Given the description of an element on the screen output the (x, y) to click on. 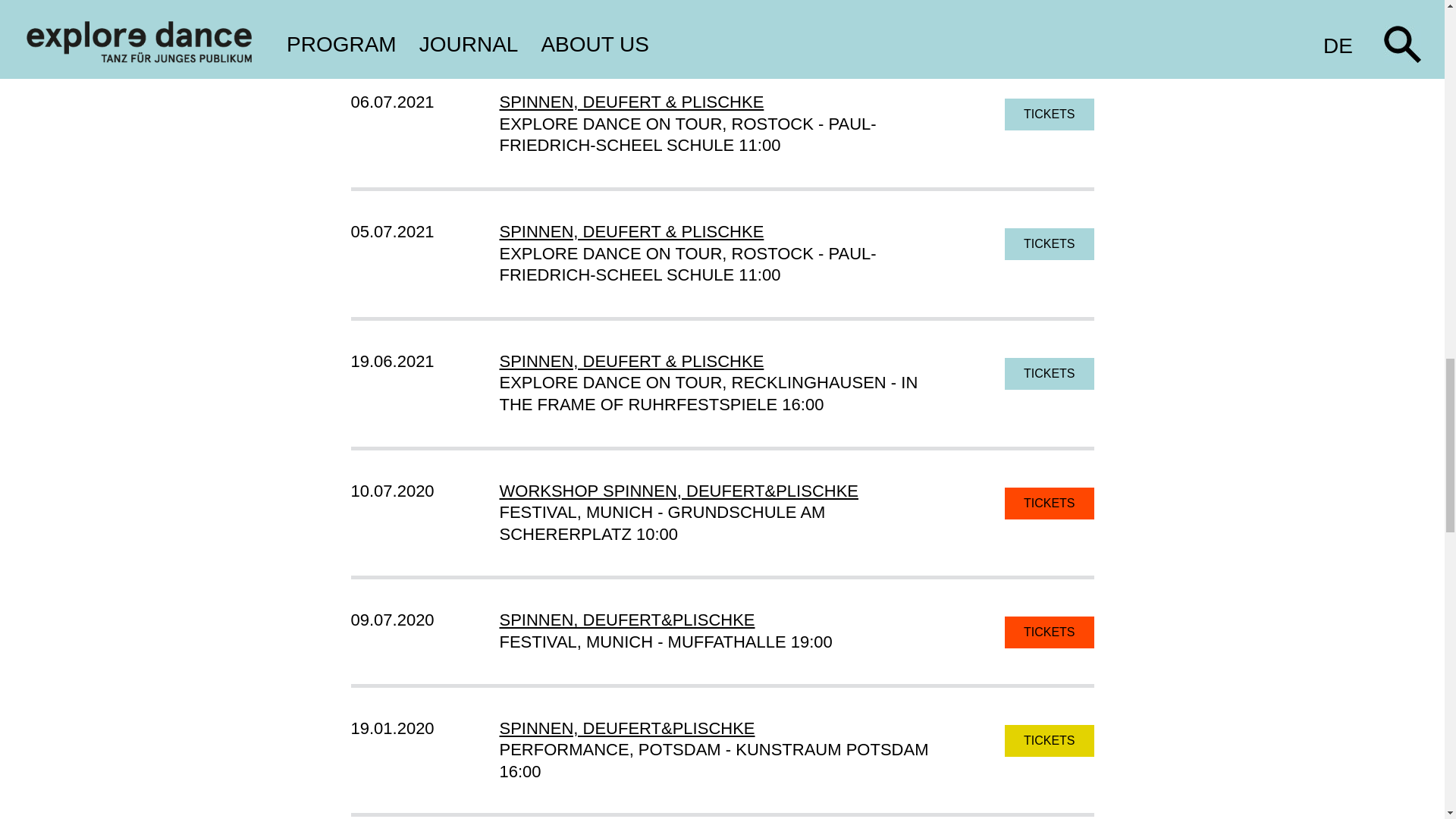
TICKETS (1049, 244)
TICKETS (1049, 114)
TICKETS (1049, 0)
